Given the description of an element on the screen output the (x, y) to click on. 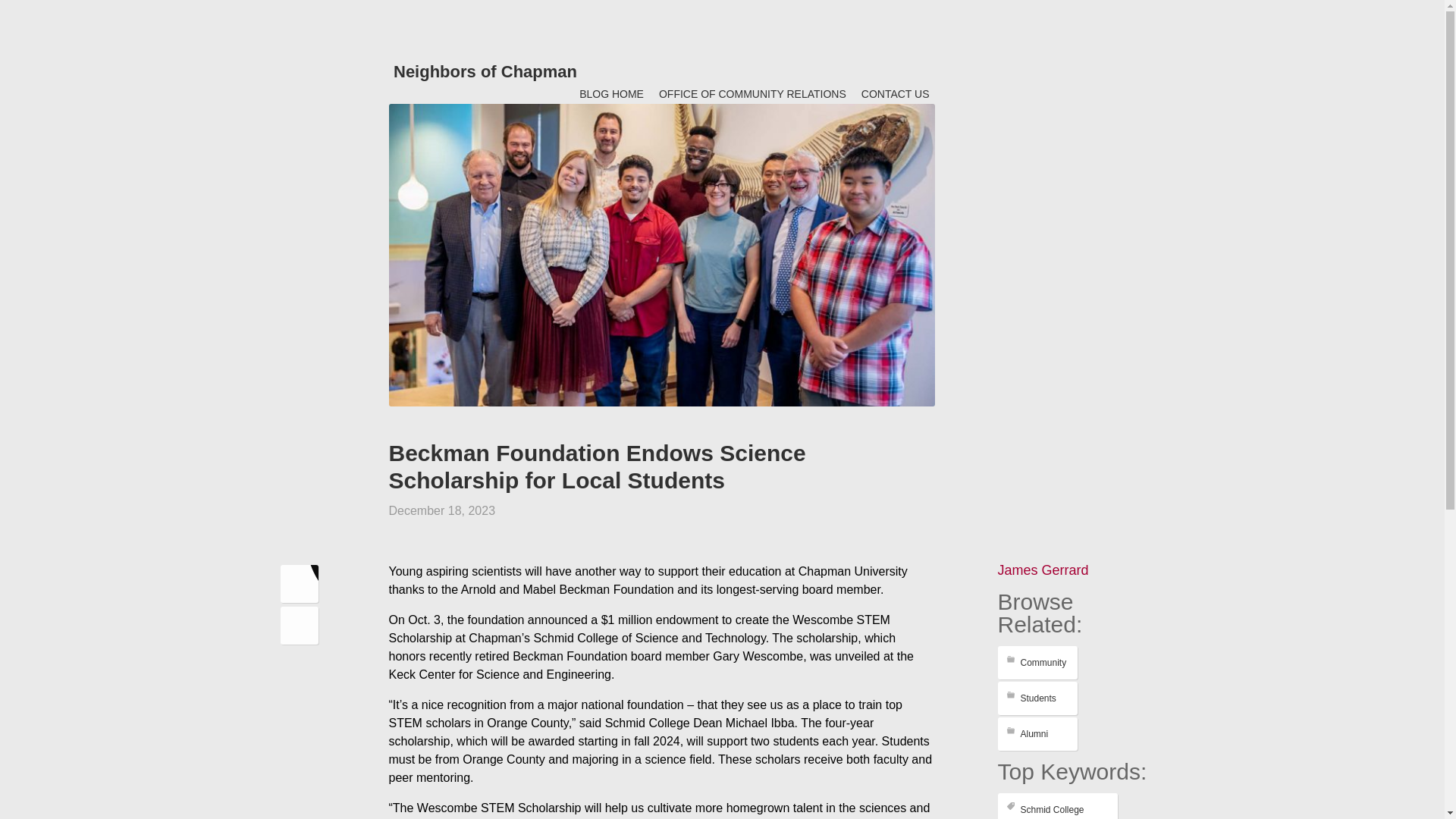
OFFICE OF COMMUNITY RELATIONS (751, 94)
Schmid College (1057, 806)
Students (1037, 697)
Posts by James Gerrard (1043, 570)
Community (1037, 662)
Alumni (1037, 734)
BLOG HOME (611, 94)
CONTACT US (895, 94)
Neighbors of Chapman (484, 71)
James Gerrard (1043, 570)
